Given the description of an element on the screen output the (x, y) to click on. 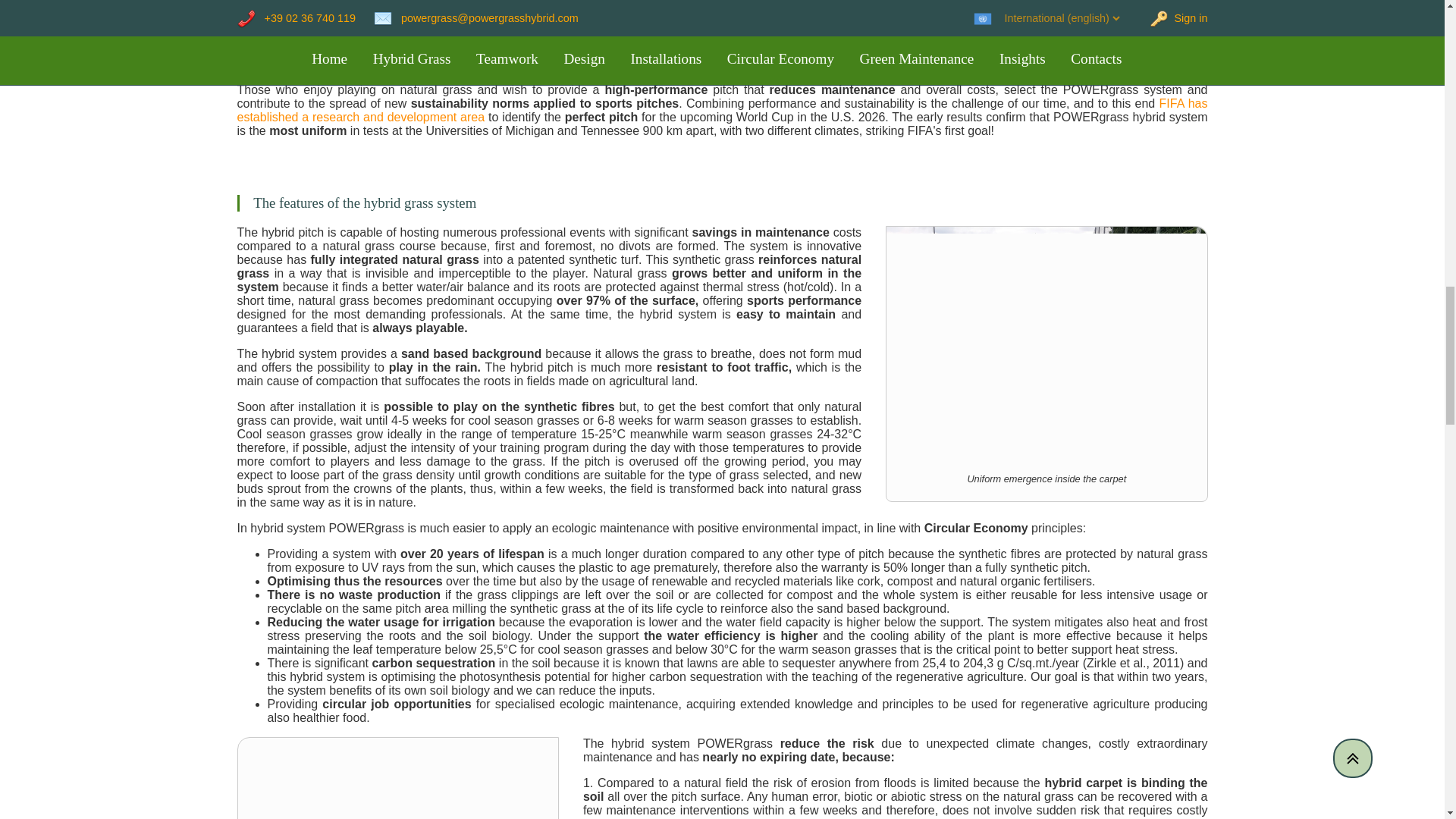
Click to zoom (396, 3)
FIFA has established a research and development area (721, 110)
Click to zoom (1046, 364)
